Given the description of an element on the screen output the (x, y) to click on. 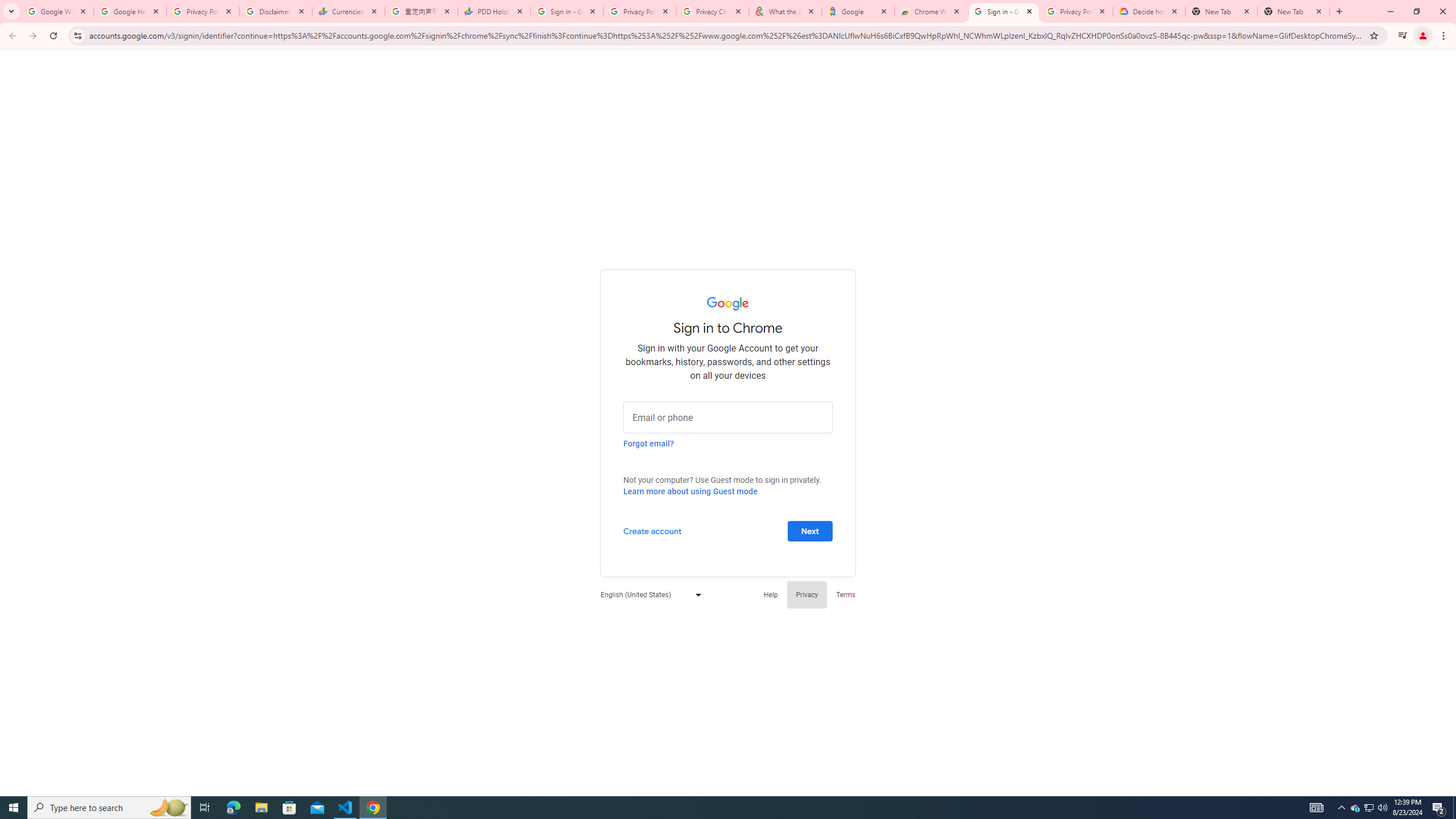
Chrome Web Store - Color themes by Chrome (930, 11)
Sign in - Google Accounts (566, 11)
Google Workspace Admin Community (57, 11)
Currencies - Google Finance (348, 11)
Learn more about using Guest mode (689, 491)
Create account (651, 530)
New Tab (1293, 11)
